Given the description of an element on the screen output the (x, y) to click on. 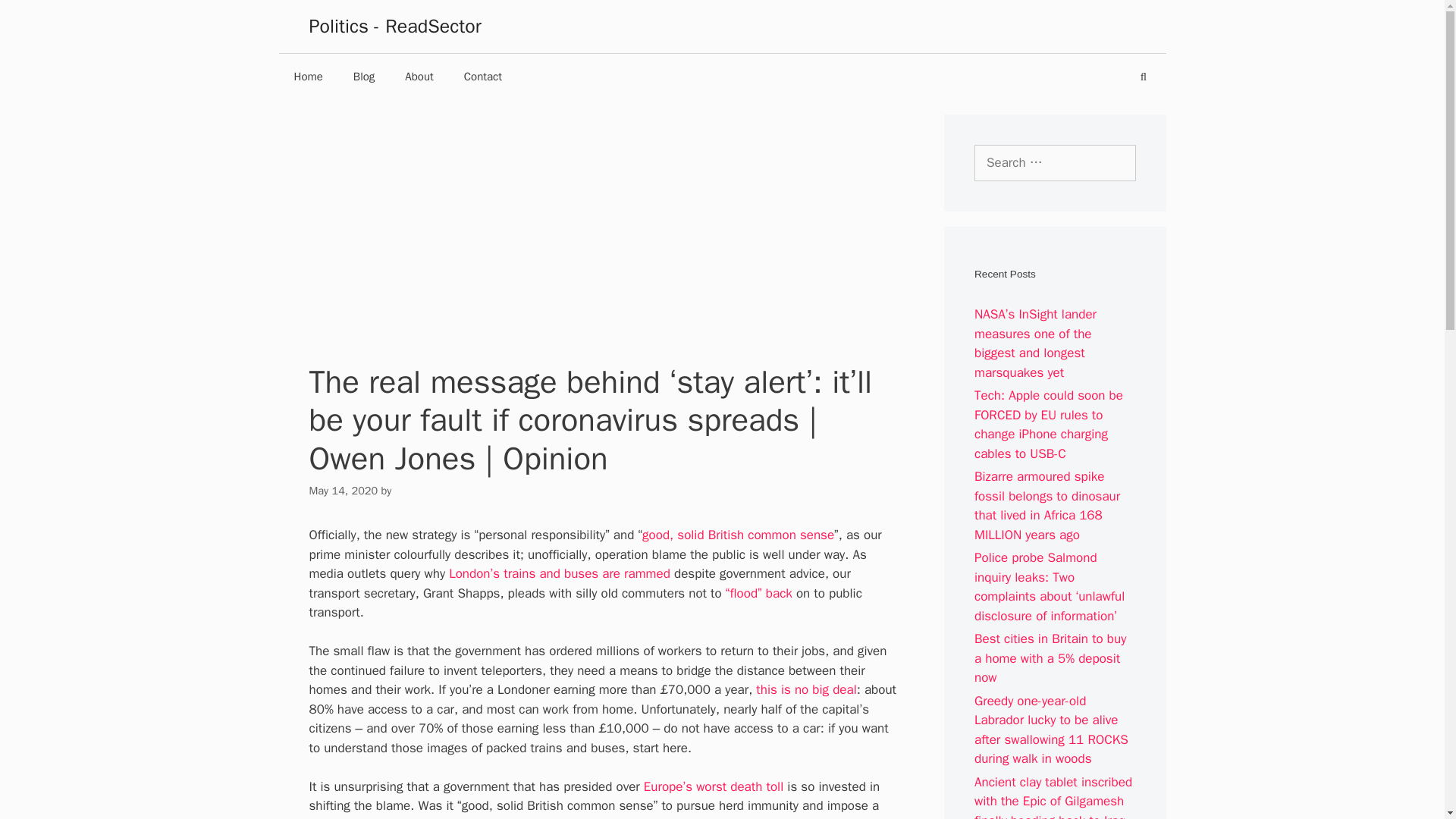
Search (34, 16)
this is no big deal (805, 689)
good, solid British common sense (738, 534)
Search for: (1054, 162)
Politics - ReadSector (394, 25)
About (419, 76)
Contact (482, 76)
Blog (363, 76)
Home (308, 76)
